Given the description of an element on the screen output the (x, y) to click on. 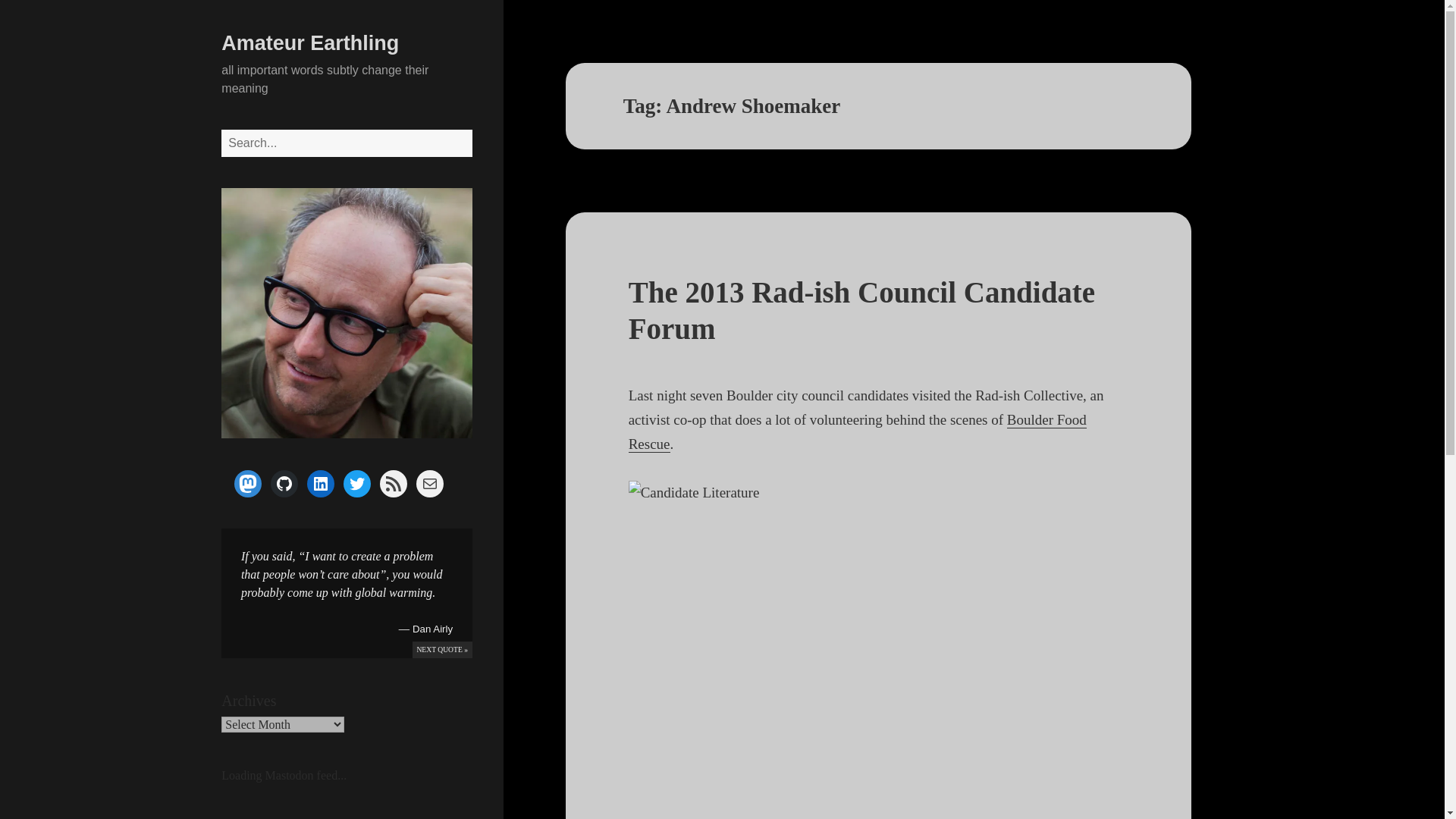
Email Zane Selvans (430, 483)
Zane Selvans on LinkedIn (320, 483)
Zane Selvans on GitHub (284, 483)
Boulder Food Rescue (857, 431)
Amateur Earthling RSS Feed (393, 483)
Boulder Food Rescue (857, 431)
Zane Selvans on Twitter (357, 483)
Amateur Earthling (309, 42)
Zane Selvans on Mastodon (248, 483)
The 2013 Rad-ish Council Candidate Forum (861, 310)
